Given the description of an element on the screen output the (x, y) to click on. 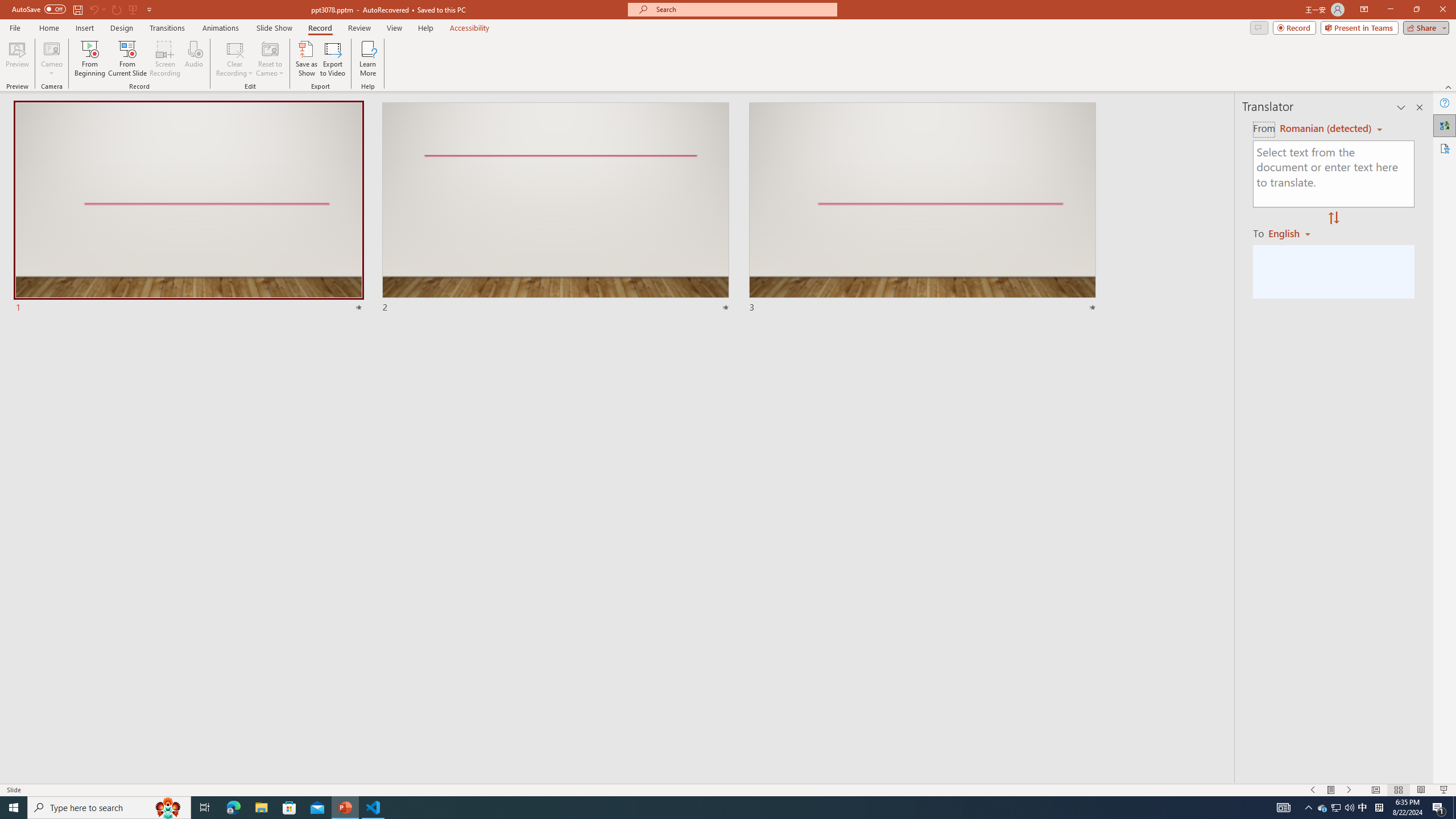
Swap "from" and "to" languages. (1333, 218)
Clear Recording (234, 58)
Menu On (1331, 790)
Romanian (1293, 232)
Czech (detected) (1323, 128)
